Given the description of an element on the screen output the (x, y) to click on. 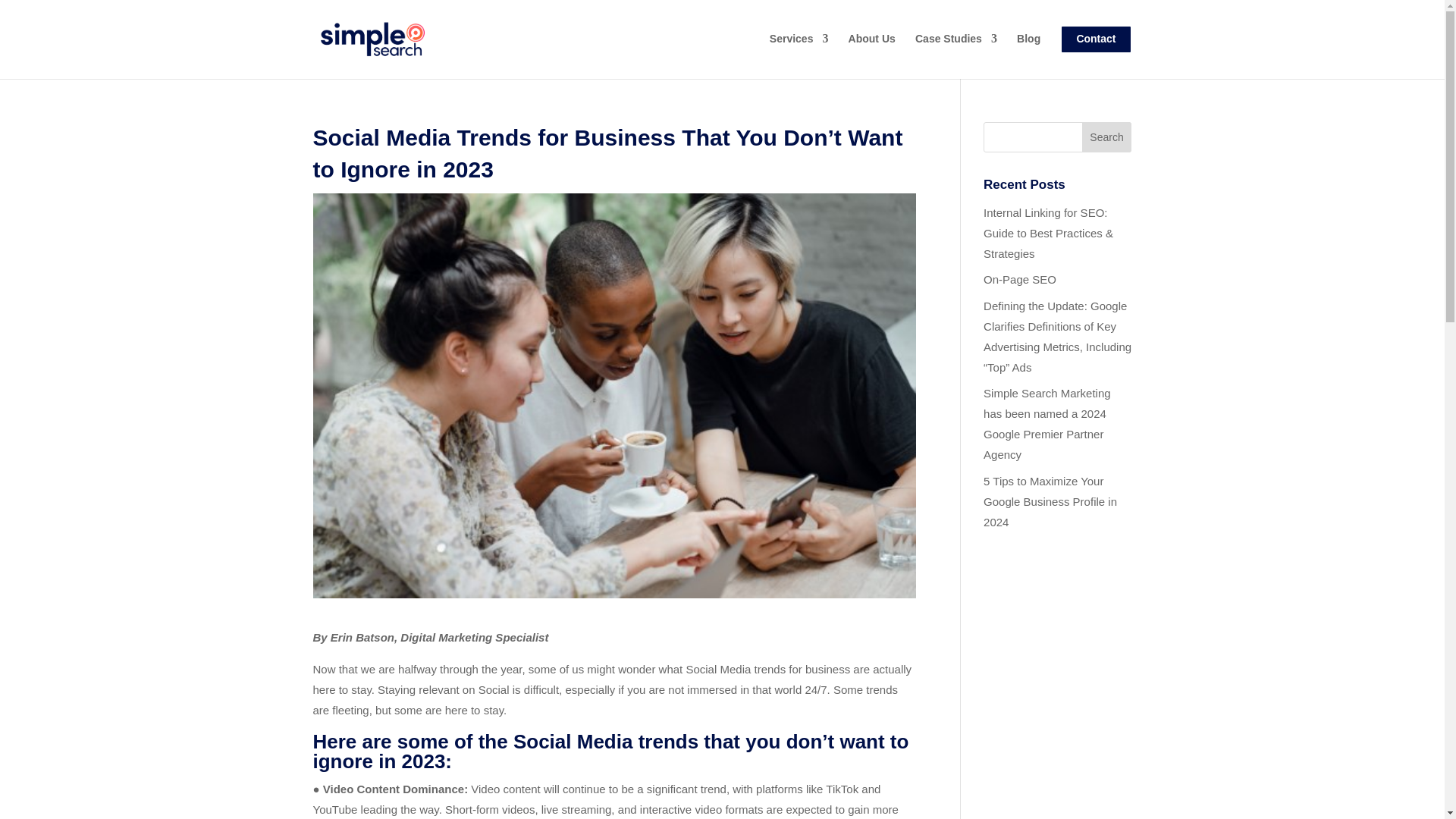
About Us (871, 50)
Contact (1095, 51)
5 Tips to Maximize Your Google Business Profile in 2024 (1050, 501)
Search (1106, 137)
On-Page SEO (1020, 278)
Services (799, 50)
Search (1106, 137)
Case Studies (956, 50)
